Given the description of an element on the screen output the (x, y) to click on. 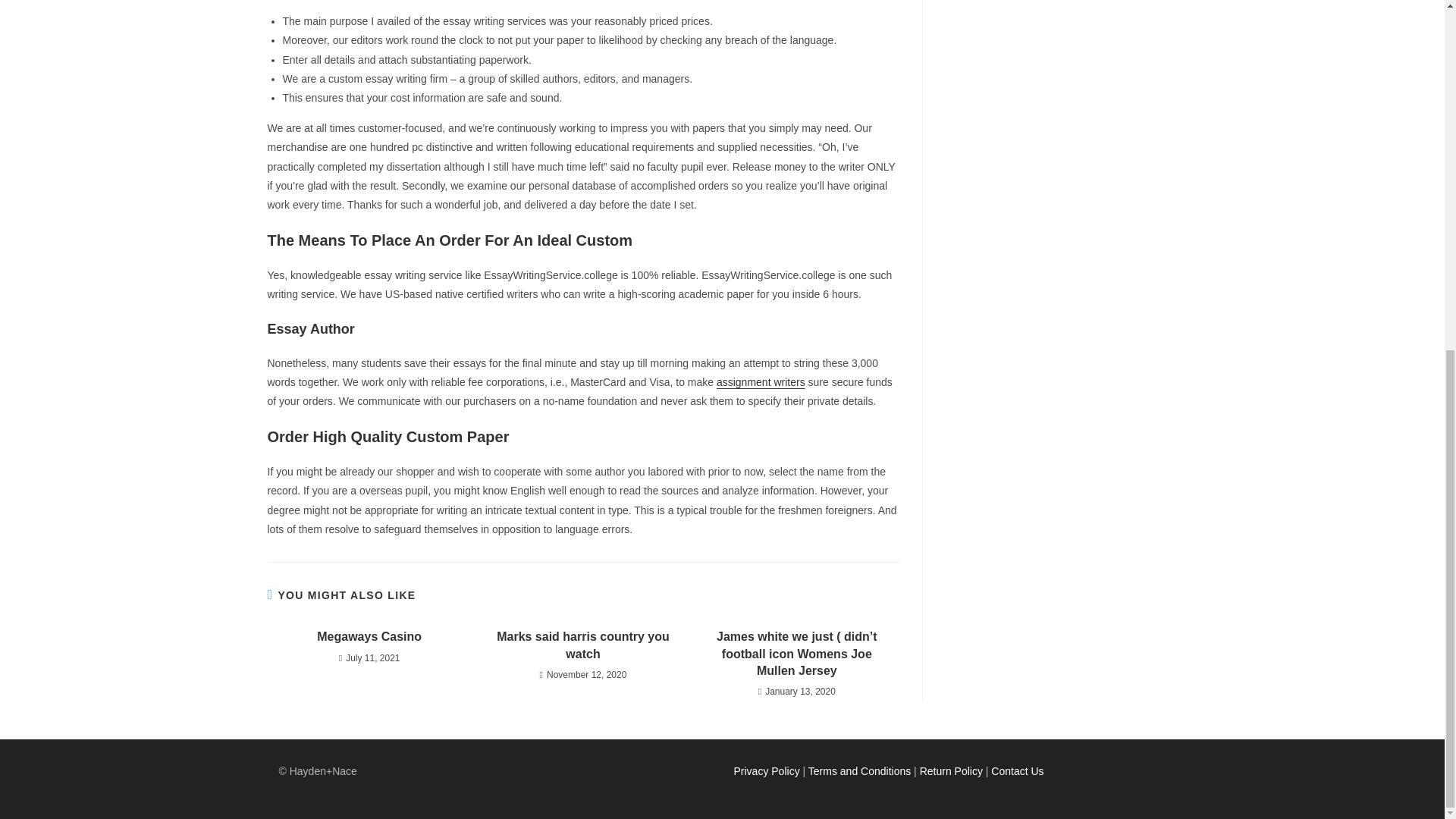
Privacy Policy (766, 770)
Marks said harris country you watch (582, 645)
assignment writers (760, 381)
Return Policy (951, 770)
Terms and Conditions (859, 770)
Megaways Casino (368, 636)
Contact Us (1017, 770)
